Given the description of an element on the screen output the (x, y) to click on. 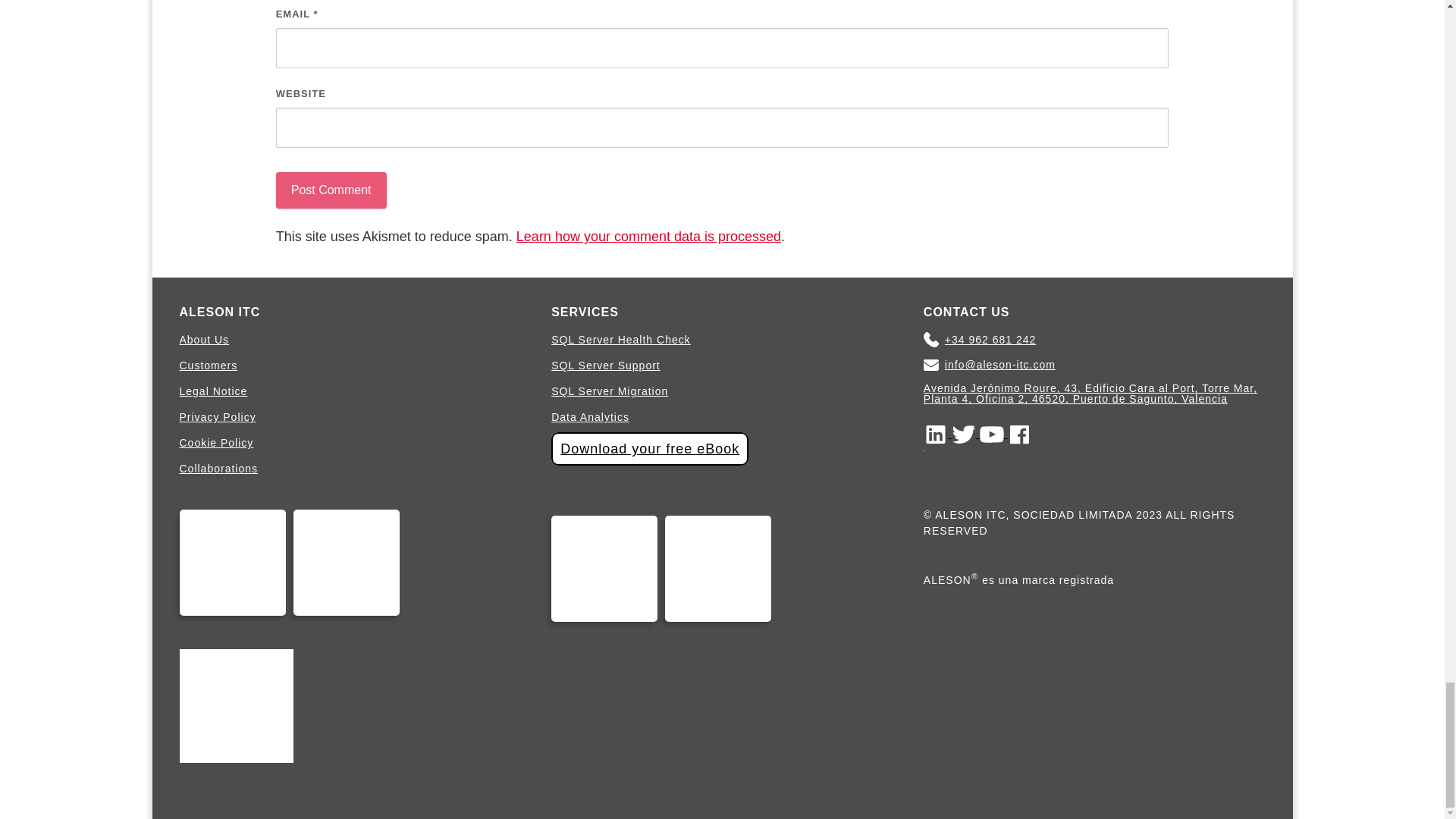
twitter (965, 433)
facebook (1019, 433)
youtube (993, 433)
Post Comment (331, 189)
linkedIn (937, 433)
